Given the description of an element on the screen output the (x, y) to click on. 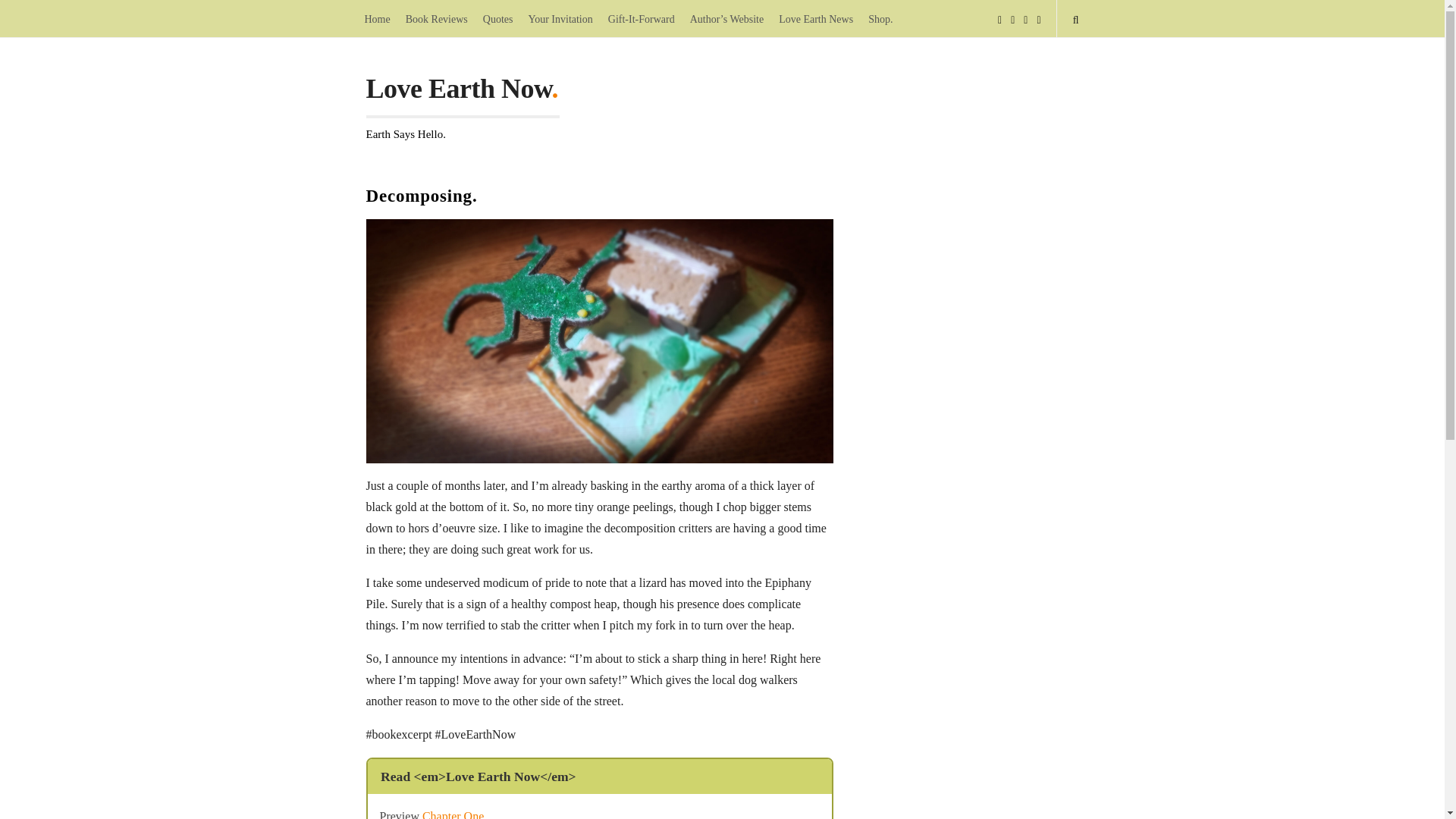
Shop. (879, 18)
Quotes (498, 18)
Your Invitation (559, 18)
Gift-It-Forward (640, 18)
Facebook (999, 18)
Love Earth Now (458, 92)
Love Earth News (815, 18)
Home (376, 18)
Book Reviews (436, 18)
Love Earth Now (458, 92)
Google Plus (1025, 18)
Twitter (1012, 18)
Instagram (1038, 18)
Chapter One (452, 814)
